Given the description of an element on the screen output the (x, y) to click on. 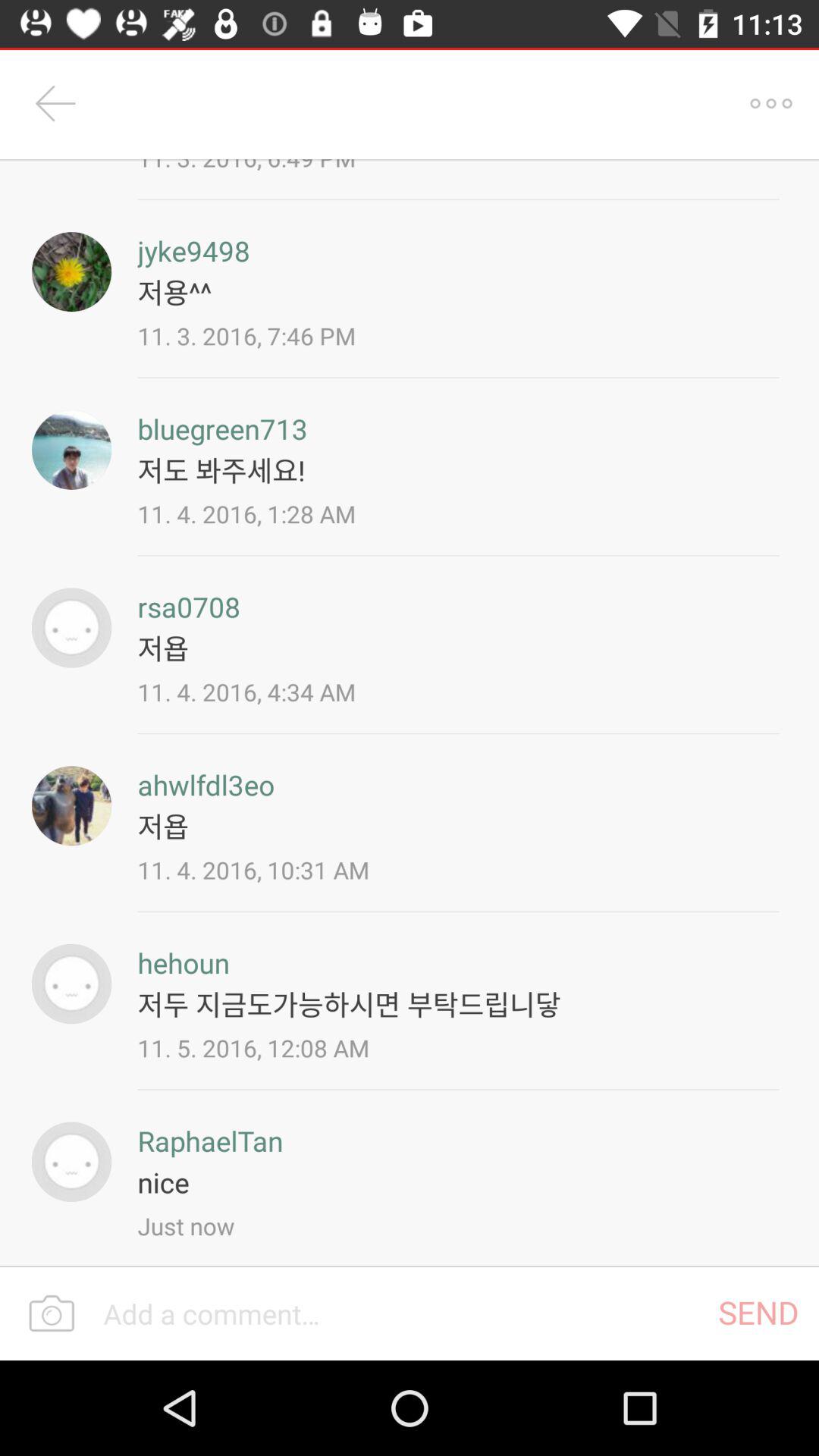
choose rsa0708 (188, 606)
